Given the description of an element on the screen output the (x, y) to click on. 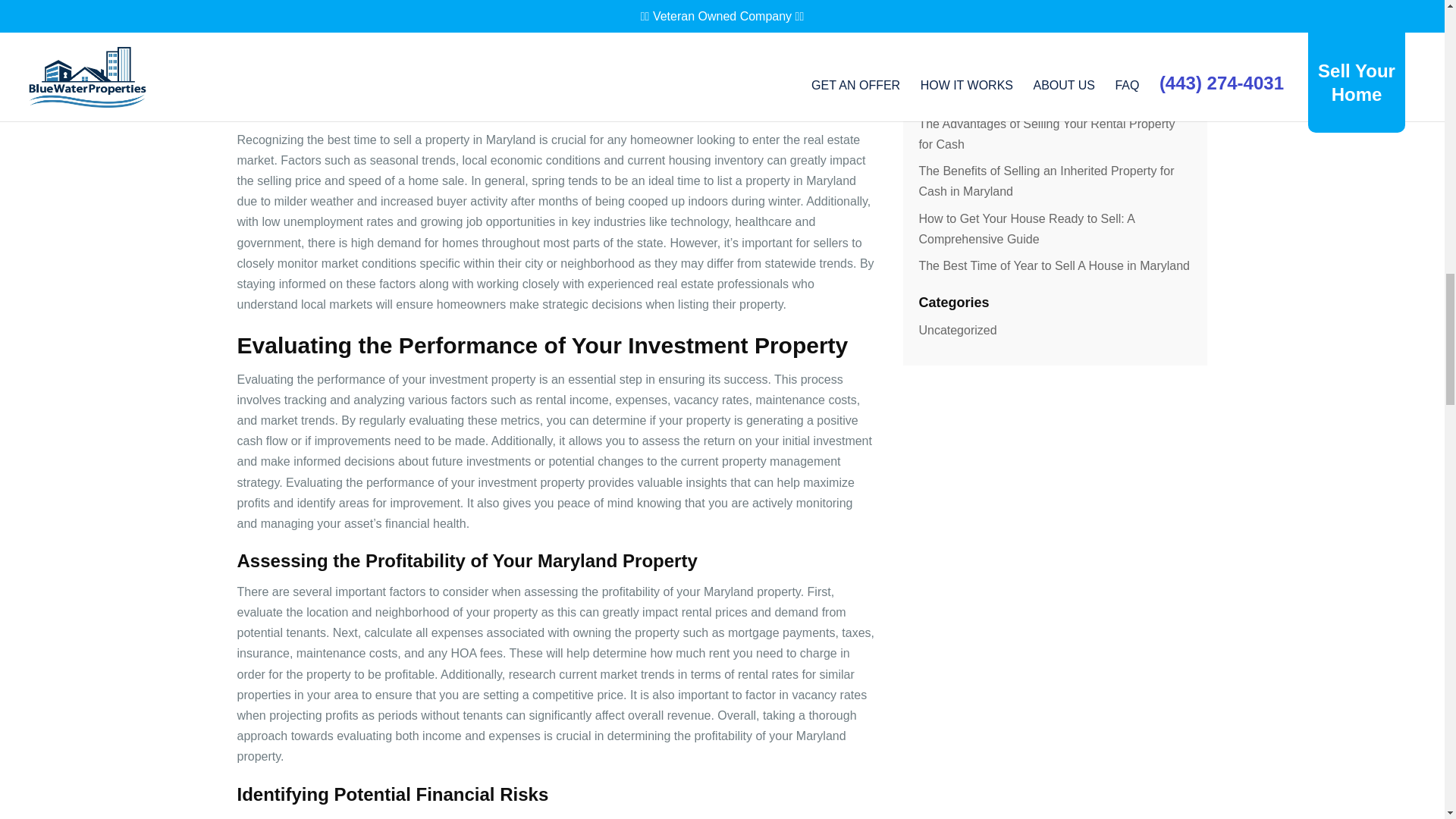
The Best Time of Year to Sell A House in Maryland (1053, 265)
The Ultimate Guide to Selling Your Home for Cash in Maryland (1053, 86)
The Advantages of Selling Your Rental Property for Cash (1046, 133)
Uncategorized (956, 329)
How to Get Your House Ready to Sell: A Comprehensive Guide (1026, 228)
Search (1159, 13)
Search (1159, 13)
